Given the description of an element on the screen output the (x, y) to click on. 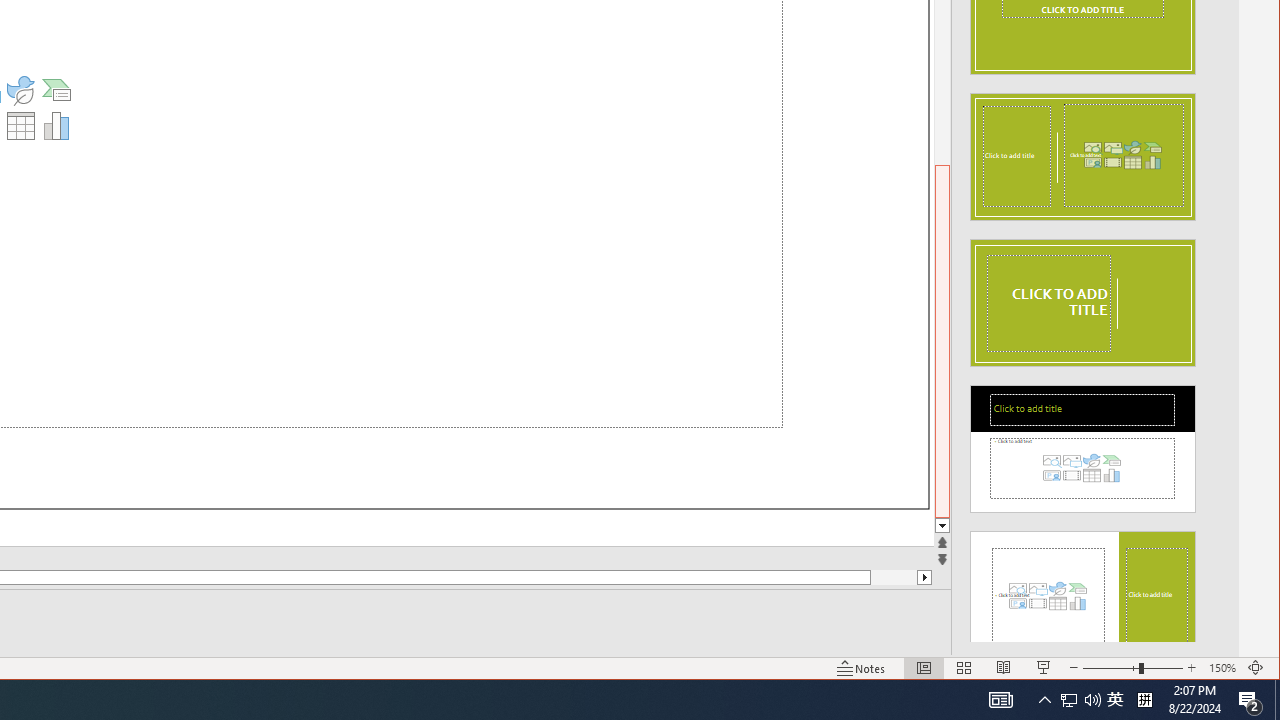
Insert a SmartArt Graphic (56, 89)
Zoom 150% (1222, 668)
Insert an Icon (21, 89)
Insert Chart (56, 125)
